Given the description of an element on the screen output the (x, y) to click on. 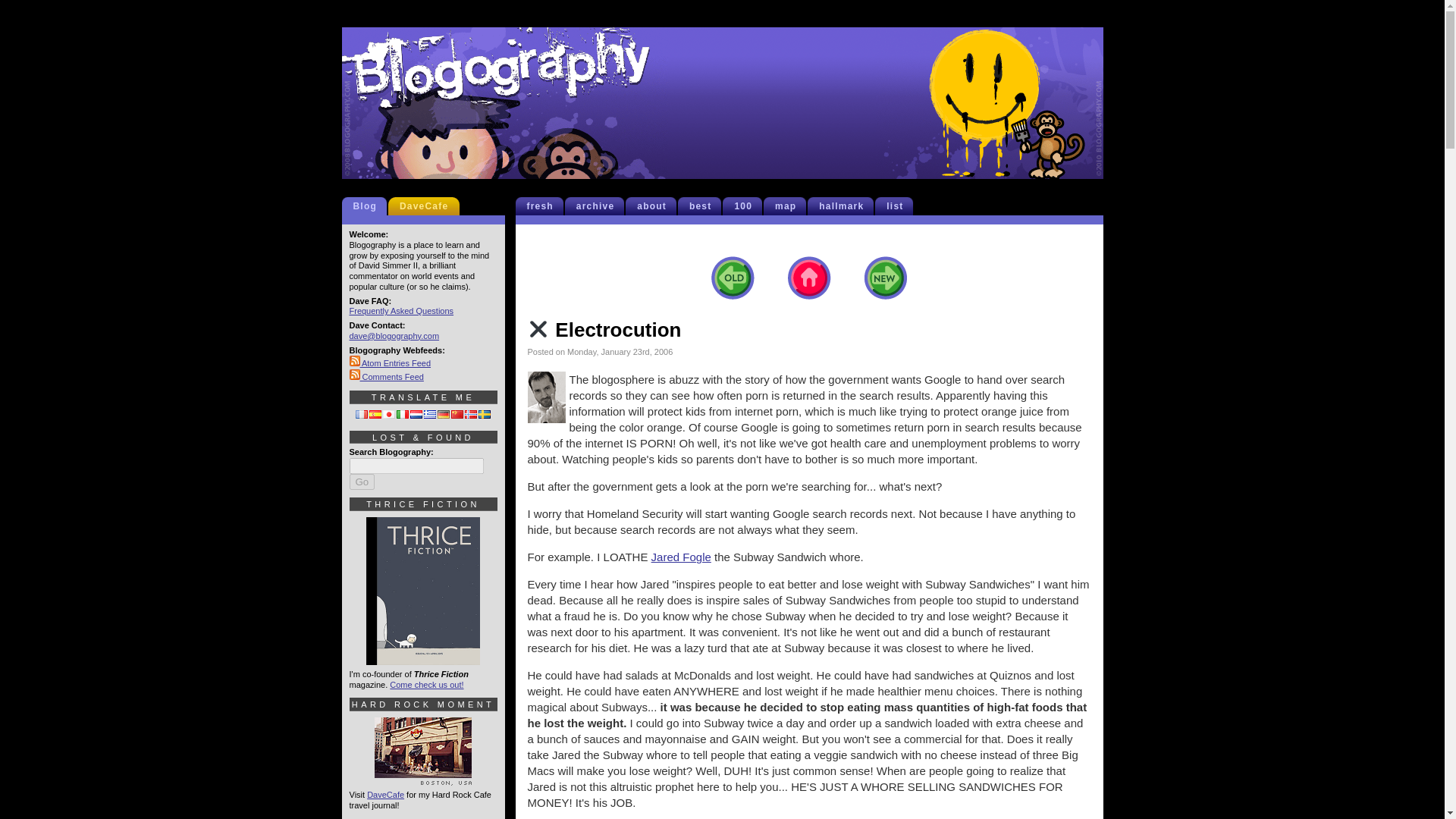
Subway Link (680, 556)
Jared Fogle (680, 556)
best (703, 206)
Go (361, 481)
100 (745, 206)
about (654, 206)
fresh (542, 206)
map (789, 206)
Electrocution (604, 329)
archive (599, 206)
